Given the description of an element on the screen output the (x, y) to click on. 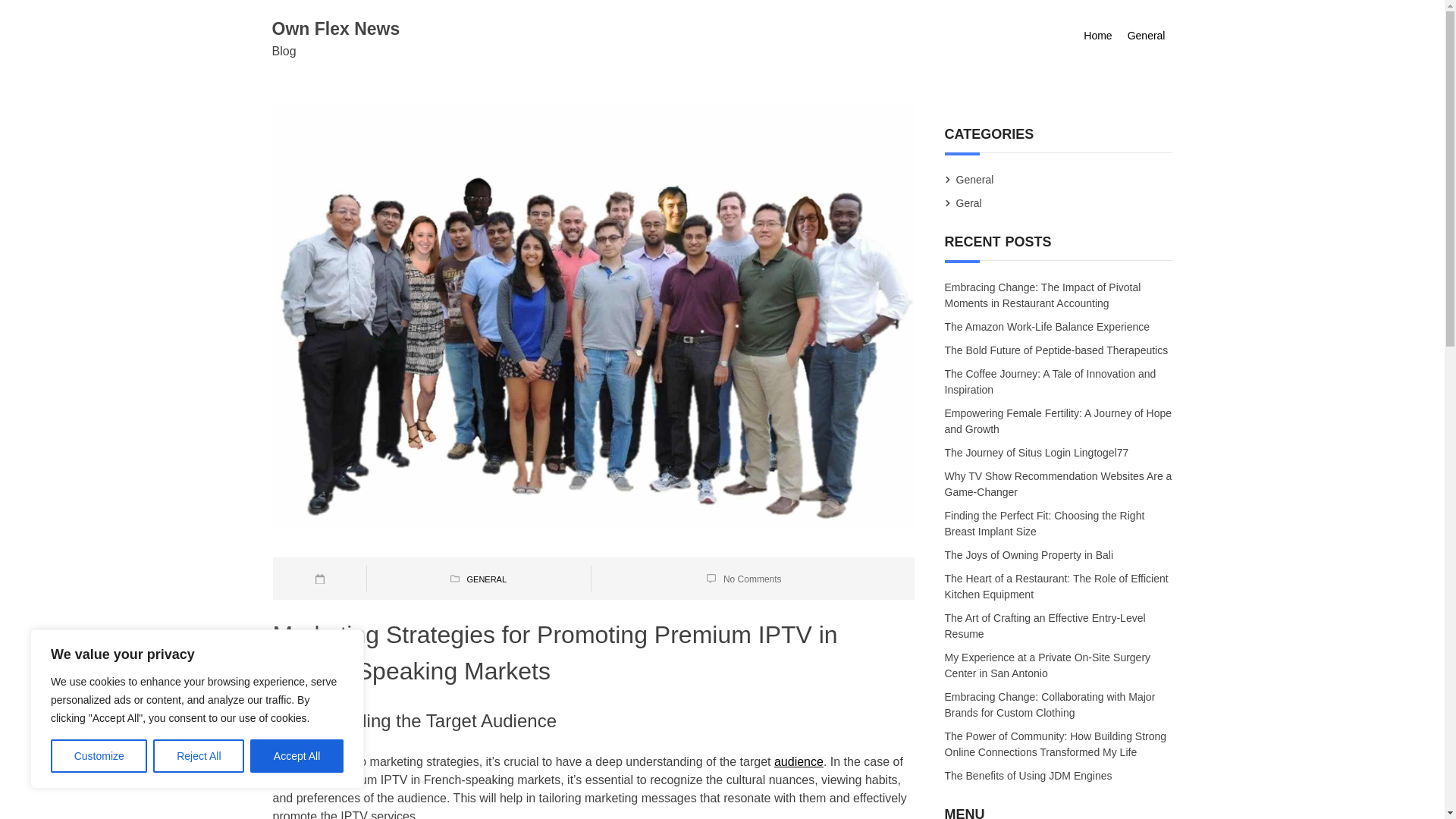
Customize (98, 756)
GENERAL (485, 578)
audience (799, 761)
Empowering Female Fertility: A Journey of Hope and Growth (1058, 421)
No Comments (752, 579)
The Amazon Work-Life Balance Experience (1047, 326)
Own Flex News (334, 28)
Accept All (296, 756)
The Bold Future of Peptide-based Therapeutics (1057, 350)
Home (1097, 35)
Why TV Show Recommendation Websites Are a Game-Changer (1058, 485)
The Journey of Situs Login Lingtogel77 (1037, 452)
The Coffee Journey: A Tale of Innovation and Inspiration (1050, 381)
Geral (968, 203)
